Given the description of an element on the screen output the (x, y) to click on. 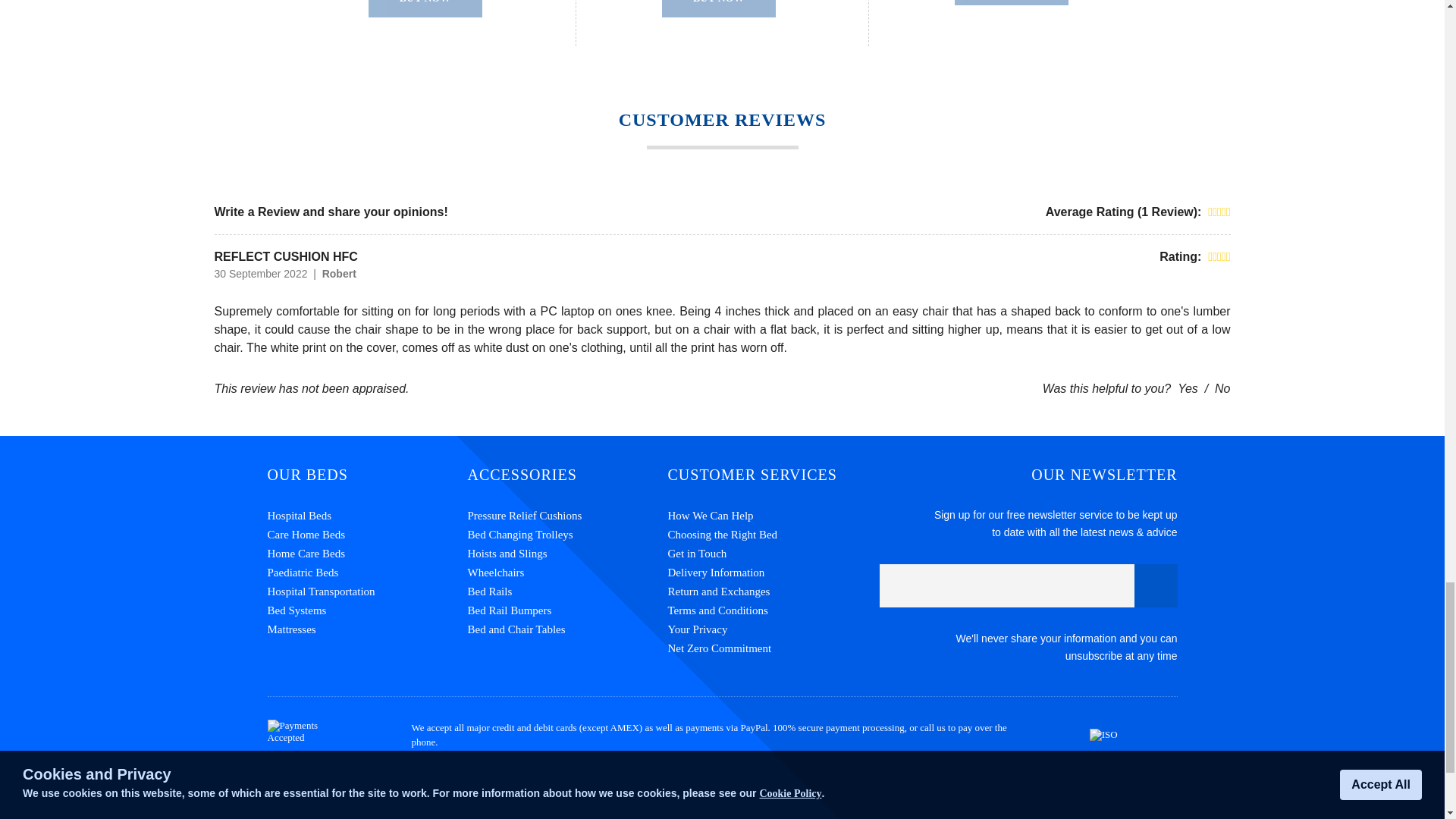
BUY NOW (719, 8)
5 Stars (1219, 212)
Customer reviews powered by Trustpilot (721, 801)
BUY NOW (1011, 2)
BUY NOW (424, 8)
Write a Review (256, 211)
